Given the description of an element on the screen output the (x, y) to click on. 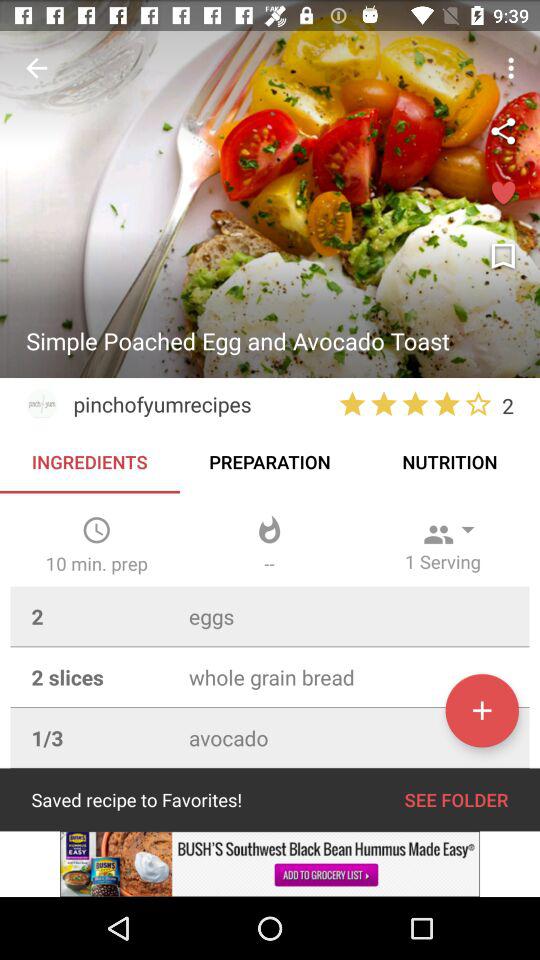
go to advertisement (270, 864)
